Given the description of an element on the screen output the (x, y) to click on. 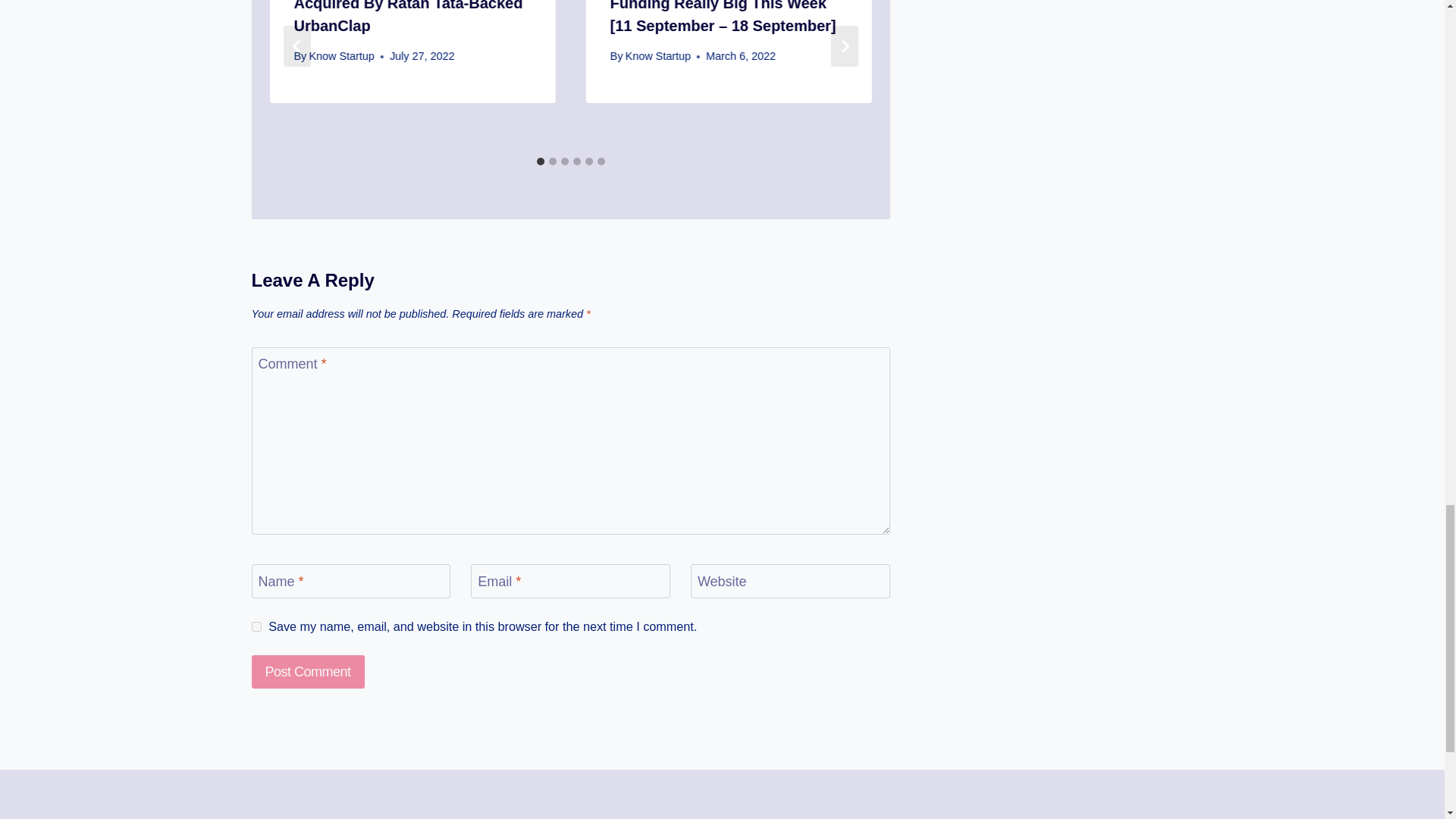
Know Startup (341, 55)
Post Comment (308, 671)
yes (256, 626)
